Given the description of an element on the screen output the (x, y) to click on. 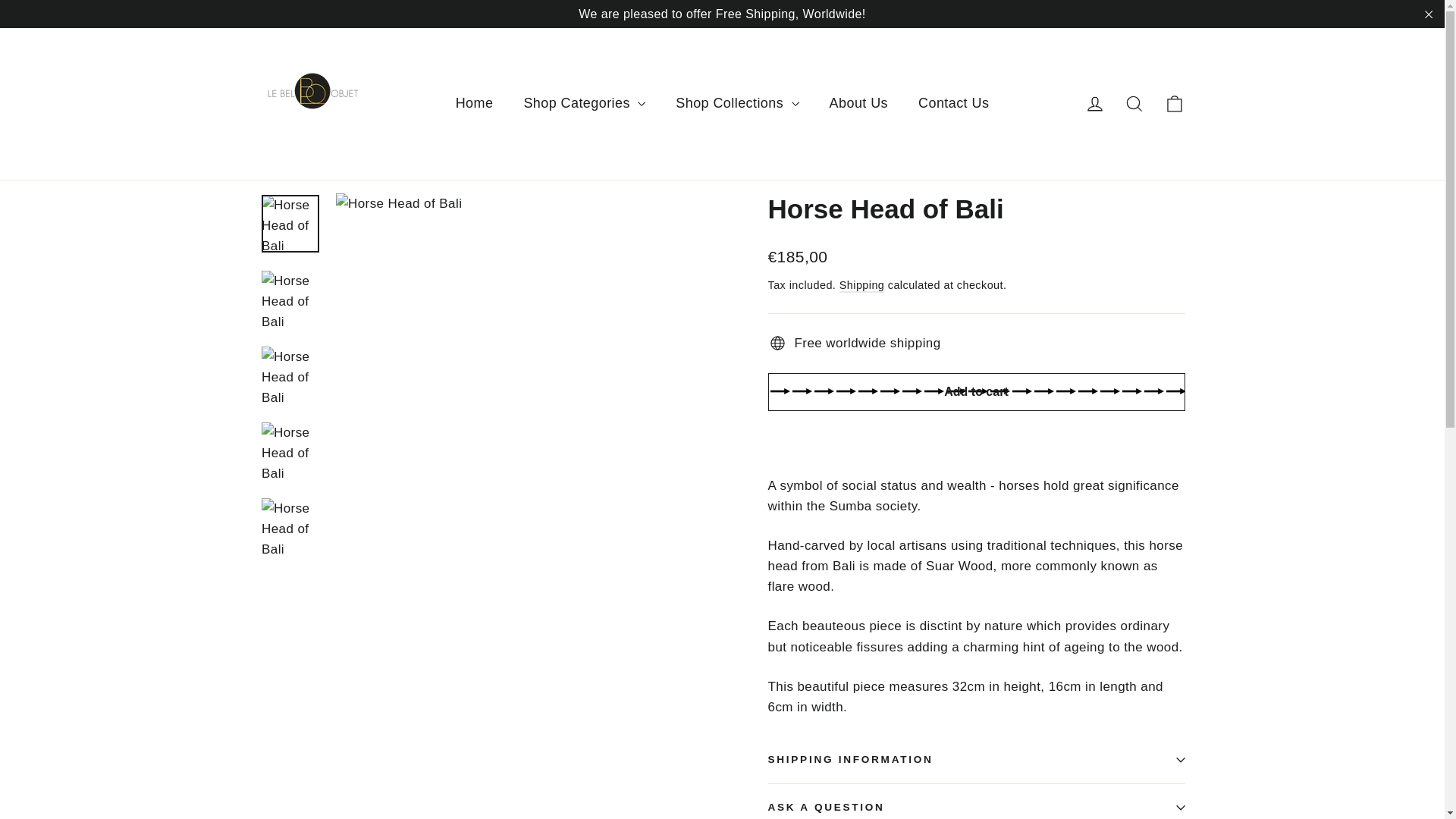
Shop Collections (737, 103)
Home (474, 103)
Shop Categories (584, 103)
